Given the description of an element on the screen output the (x, y) to click on. 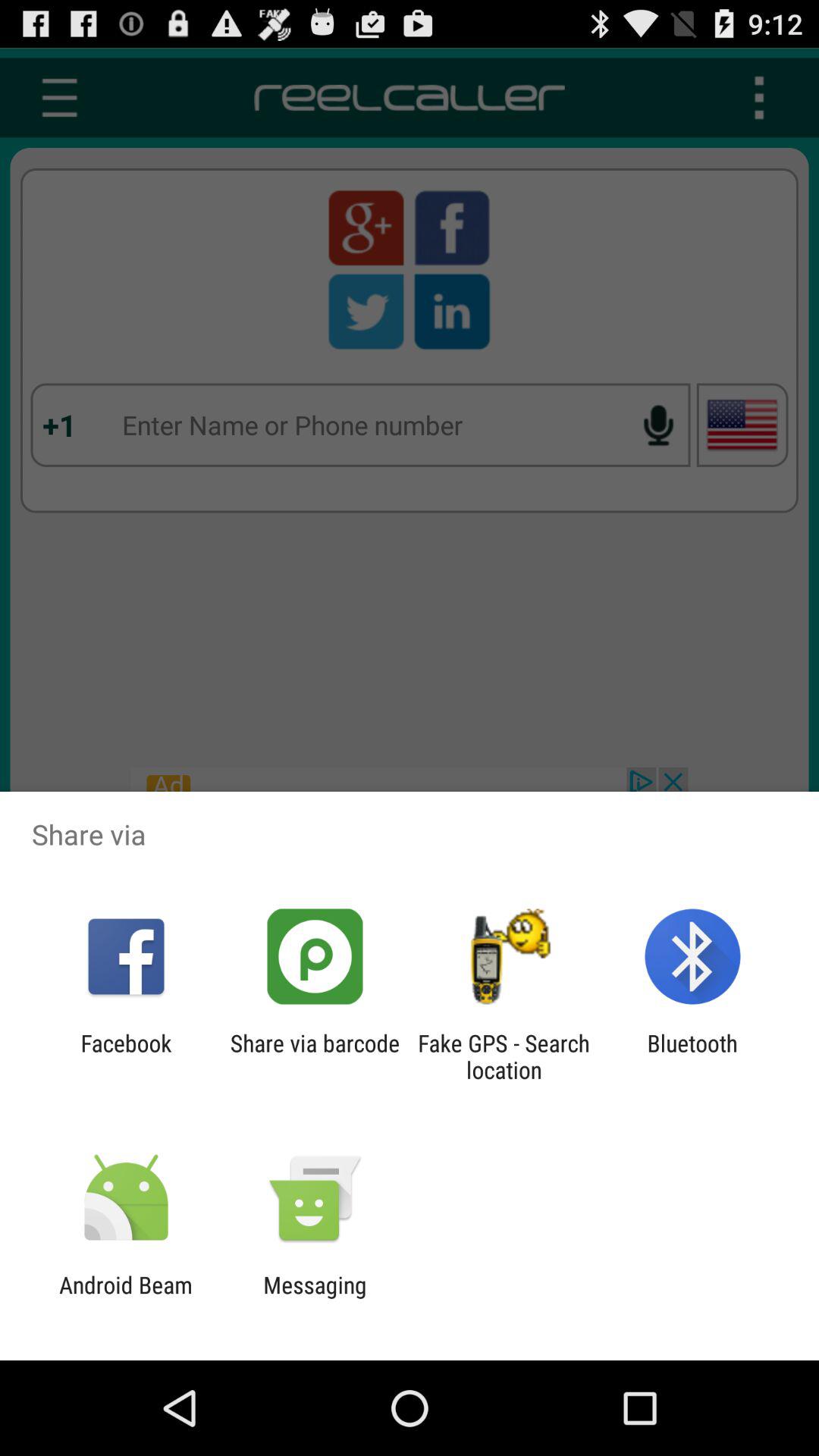
press bluetooth at the bottom right corner (692, 1056)
